Given the description of an element on the screen output the (x, y) to click on. 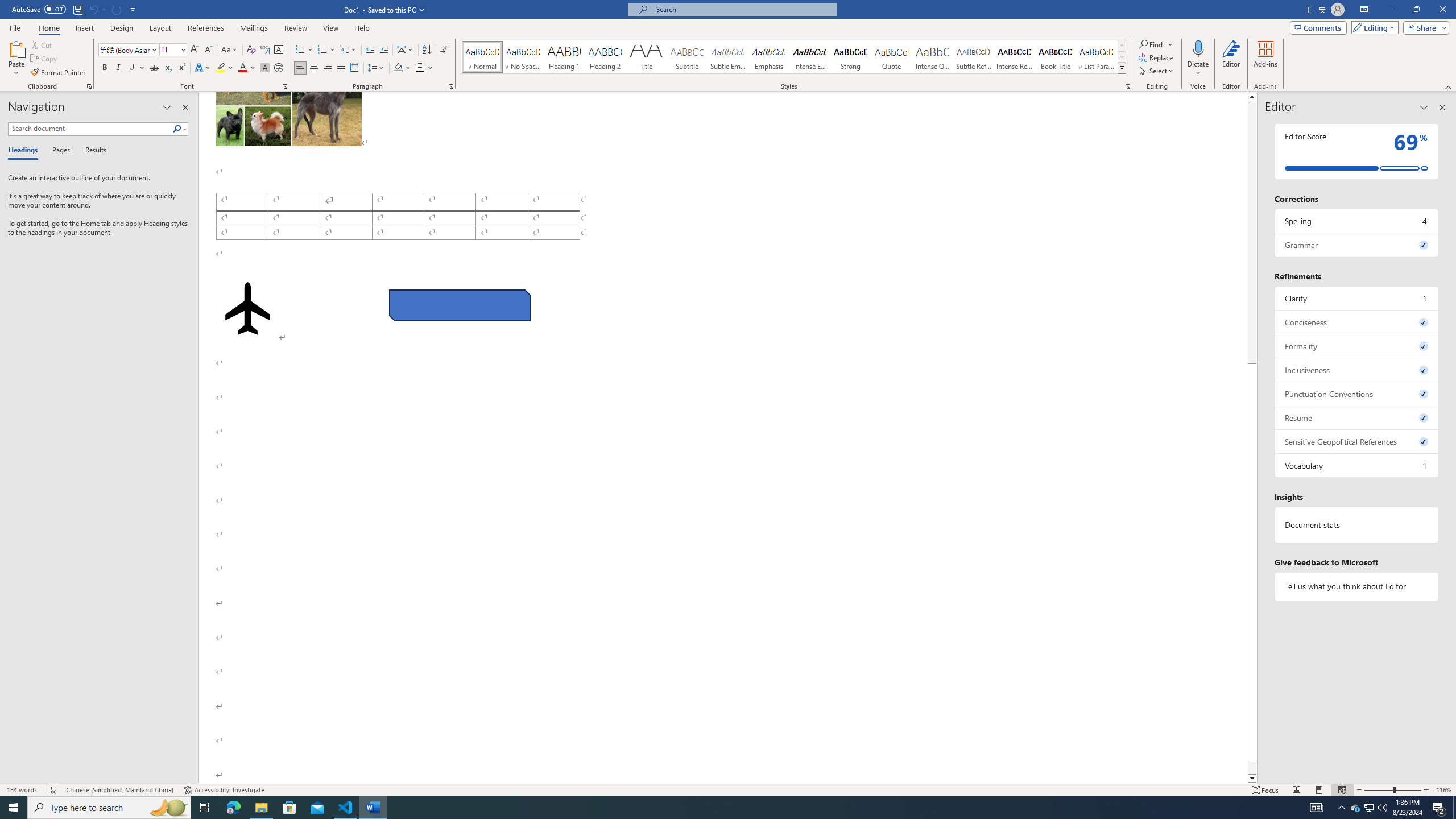
Grammar, 0 issues. Press space or enter to review items. (1356, 244)
Conciseness, 0 issues. Press space or enter to review items. (1356, 322)
